Given the description of an element on the screen output the (x, y) to click on. 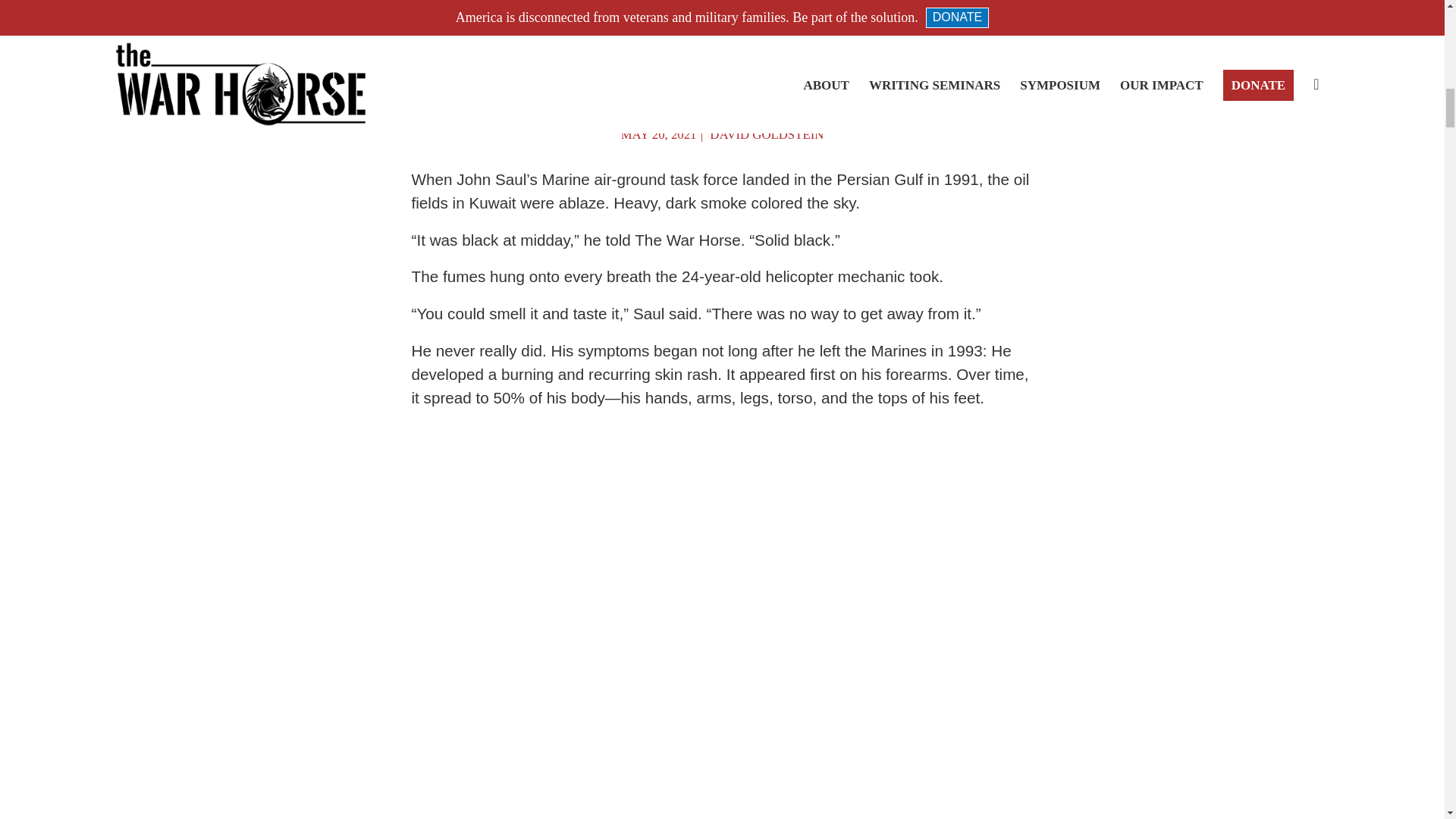
DAVID GOLDSTEIN (767, 134)
Posts by David Goldstein (767, 134)
